Given the description of an element on the screen output the (x, y) to click on. 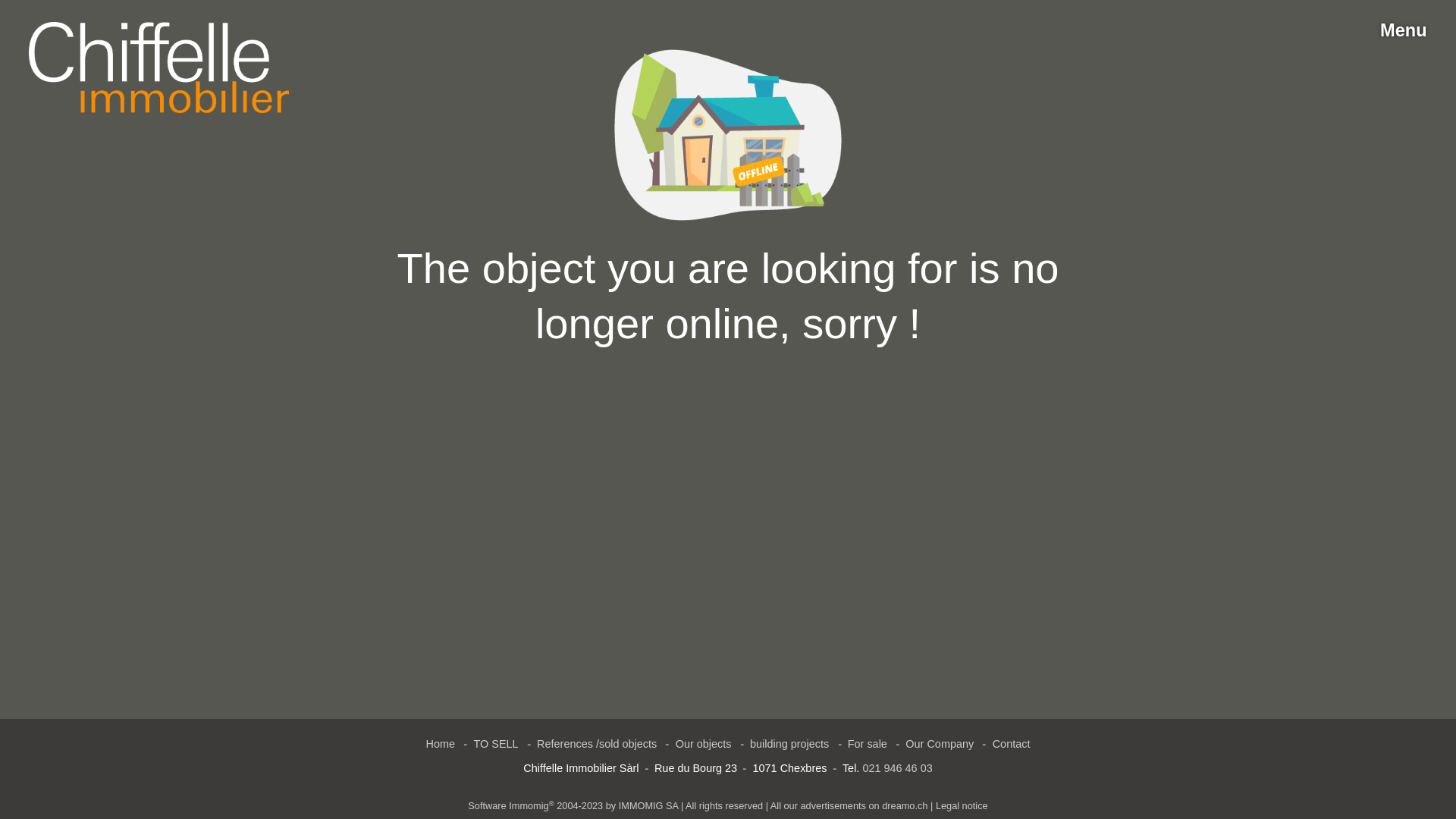
building projects Element type: text (789, 743)
TO SELL Element type: text (496, 743)
For sale Element type: text (867, 743)
Home Element type: text (440, 743)
References /sold objects Element type: text (596, 743)
Our Company Element type: text (939, 743)
Contact Element type: text (1011, 743)
021 946 46 03 Element type: text (896, 768)
Our objects Element type: text (703, 743)
Legal notice Element type: text (961, 805)
dreamo.ch Element type: text (904, 805)
